Given the description of an element on the screen output the (x, y) to click on. 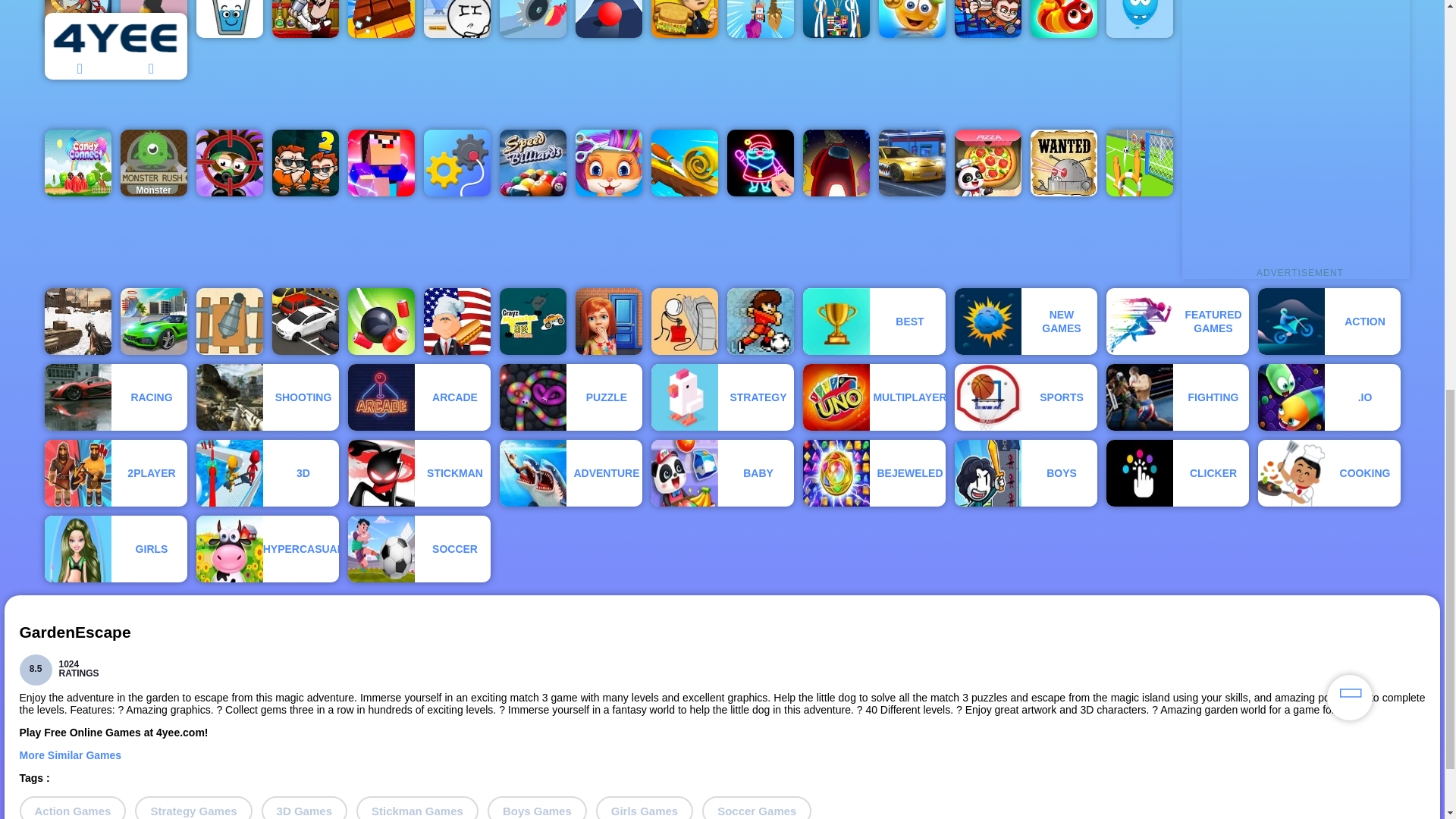
Advertisement (1294, 133)
